Given the description of an element on the screen output the (x, y) to click on. 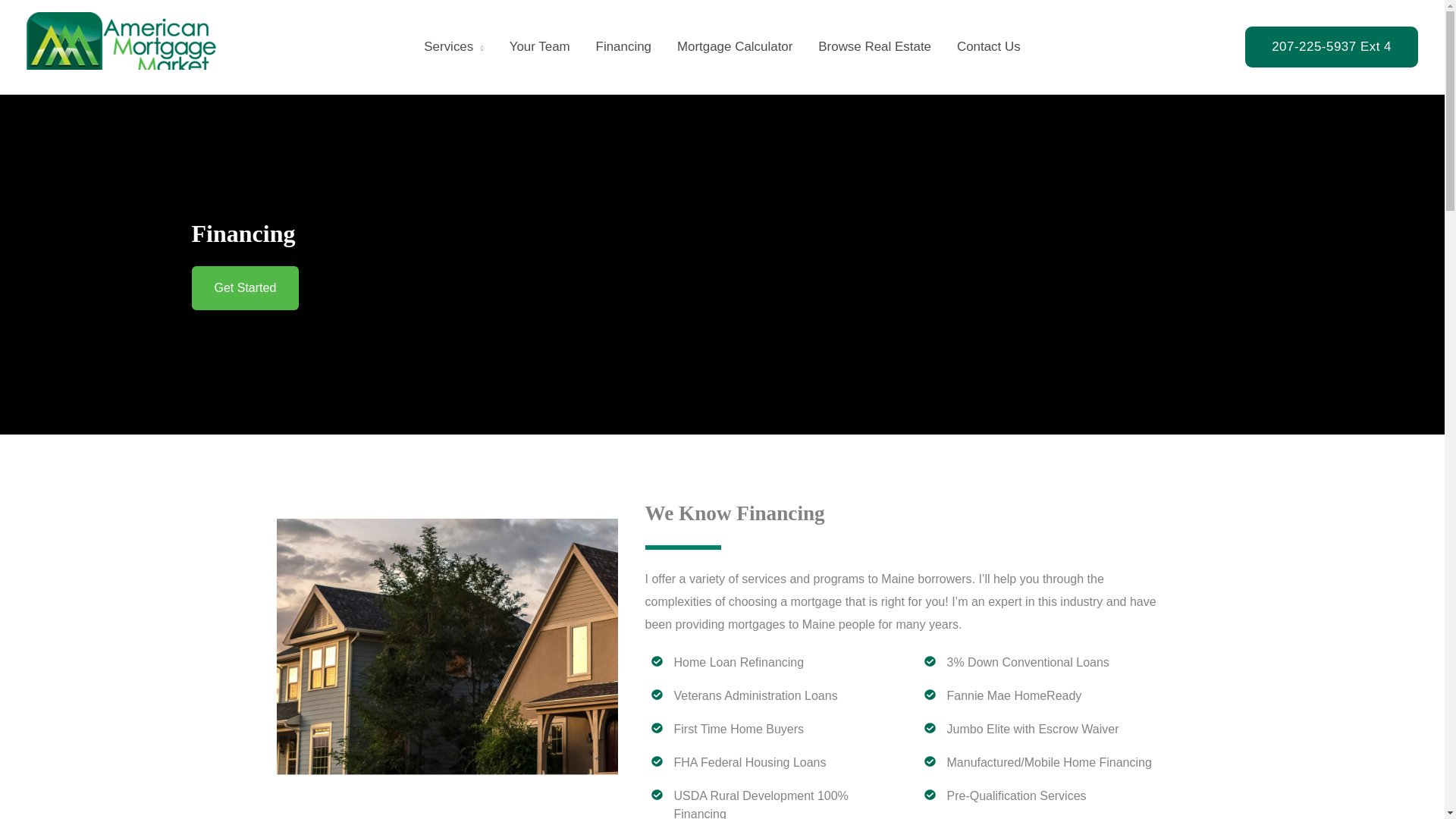
Browse Real Estate (874, 46)
Your Team (539, 46)
Get Started (244, 288)
Contact Us (988, 46)
Mortgage Calculator (734, 46)
Financing (623, 46)
Services (453, 46)
207-225-5937 Ext 4 (1331, 46)
